Given the description of an element on the screen output the (x, y) to click on. 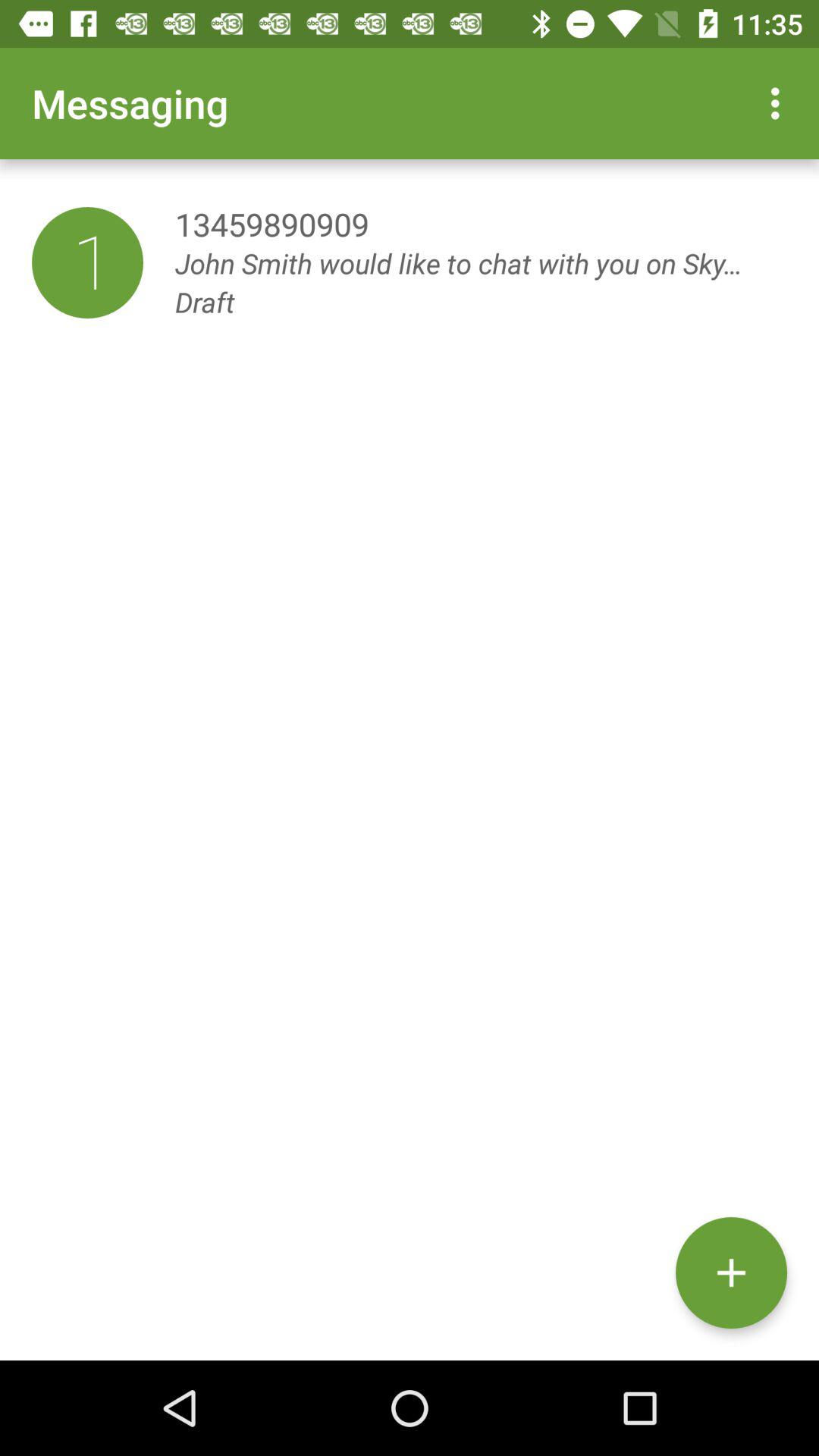
press the icon to the right of the messaging app (779, 103)
